Given the description of an element on the screen output the (x, y) to click on. 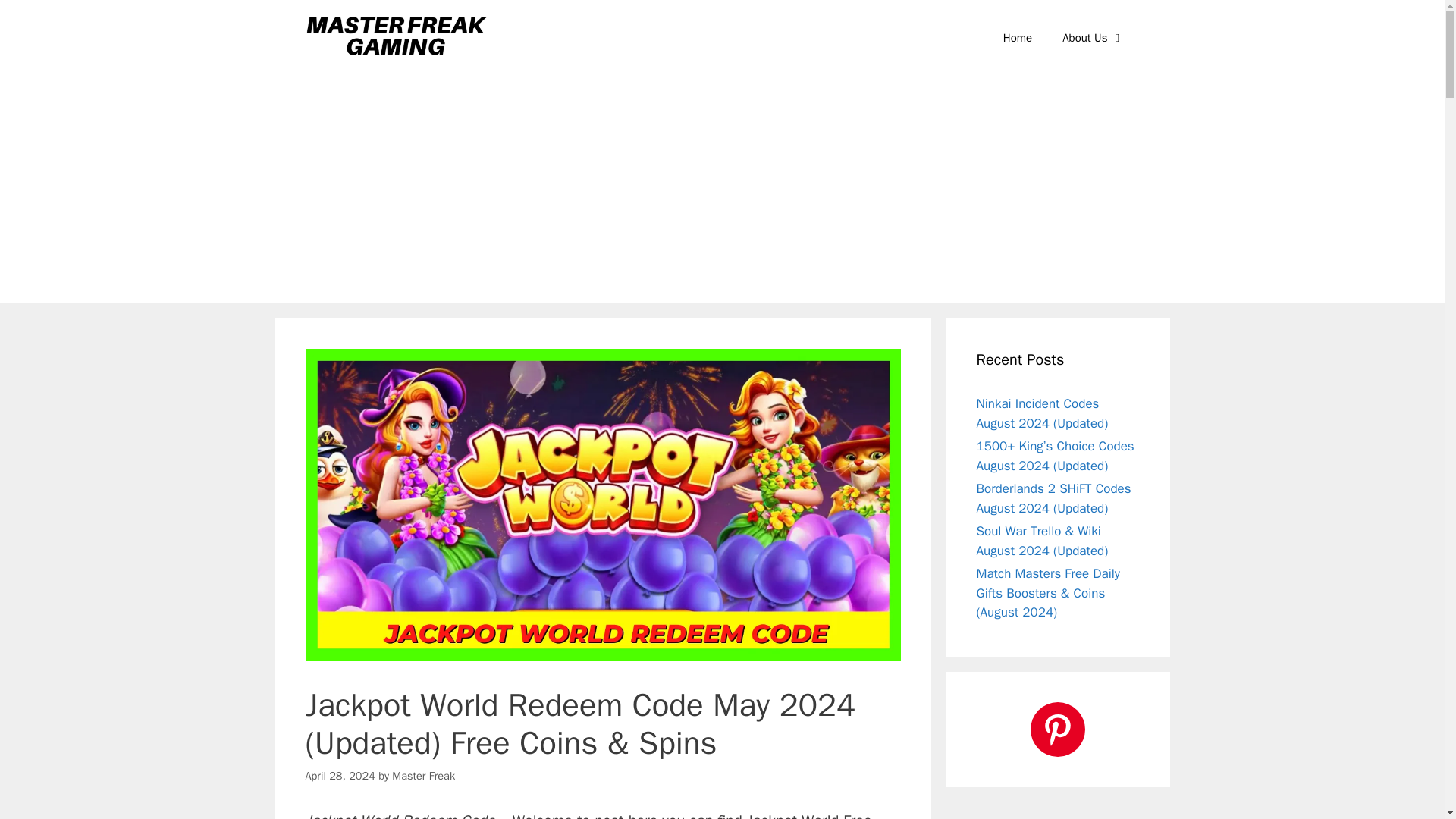
View all posts by Master Freak (422, 775)
Master Freak (422, 775)
Home (1017, 37)
About Us (1092, 37)
